Given the description of an element on the screen output the (x, y) to click on. 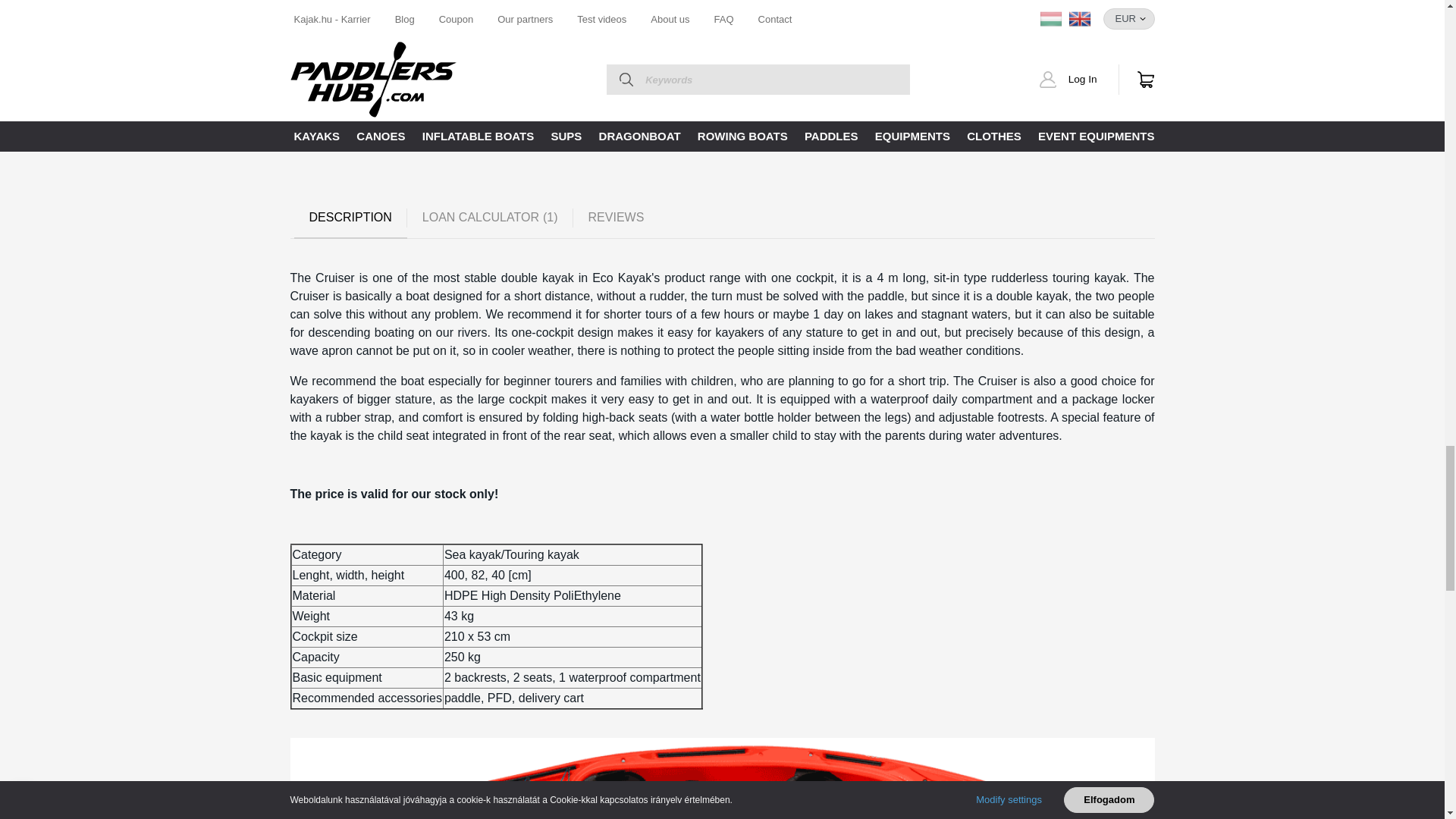
DESCRIPTION (350, 217)
LOAN CALCULATOR1 (490, 217)
REVIEWS (616, 217)
